Given the description of an element on the screen output the (x, y) to click on. 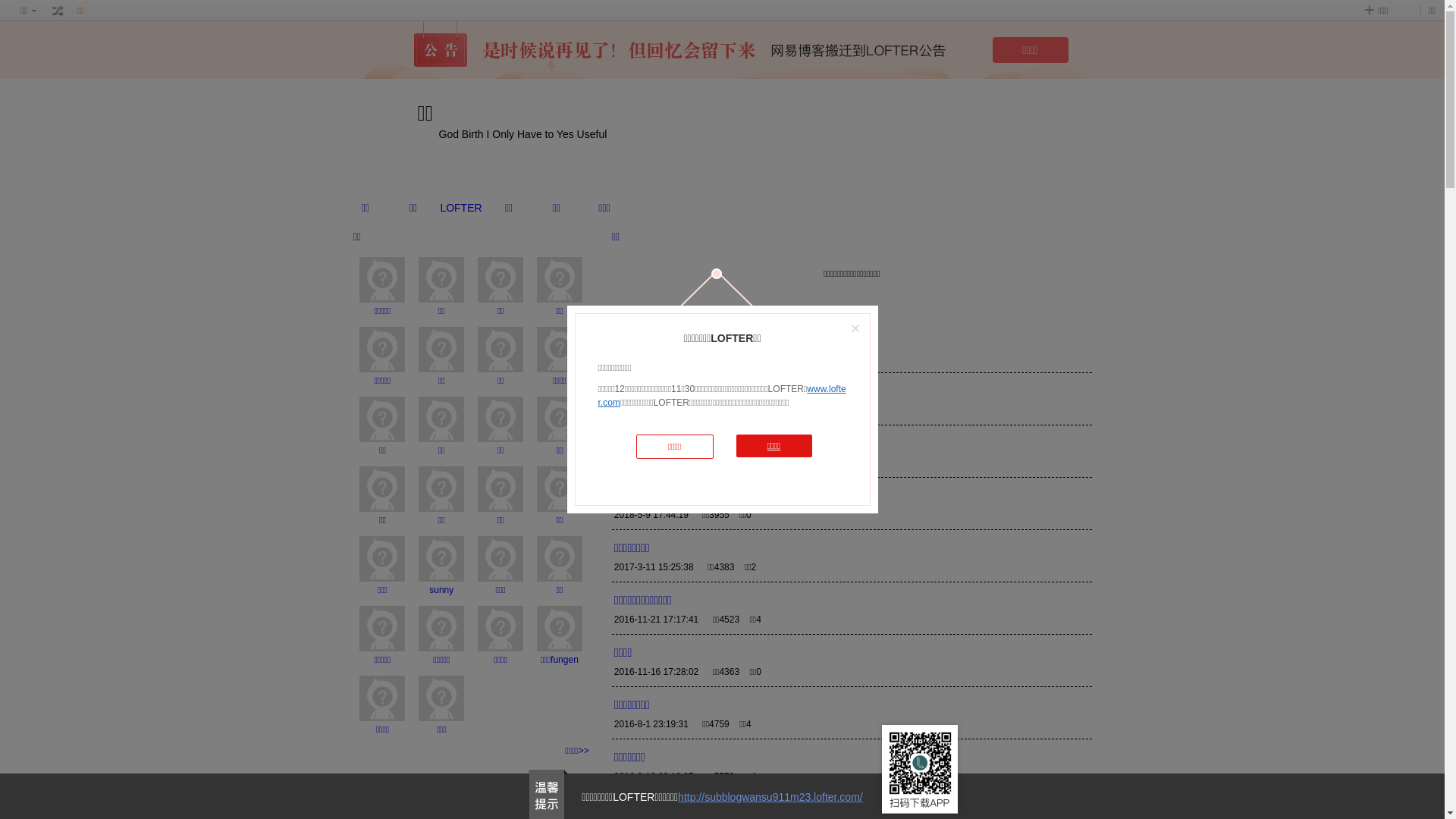
www.lofter.com Element type: text (721, 395)
http://subblogwansu911m23.lofter.com/ Element type: text (769, 796)
sunny Element type: text (441, 589)
  Element type: text (725, 391)
sunny Element type: hover (440, 558)
LOFTER Element type: text (460, 207)
  Element type: text (58, 10)
